Given the description of an element on the screen output the (x, y) to click on. 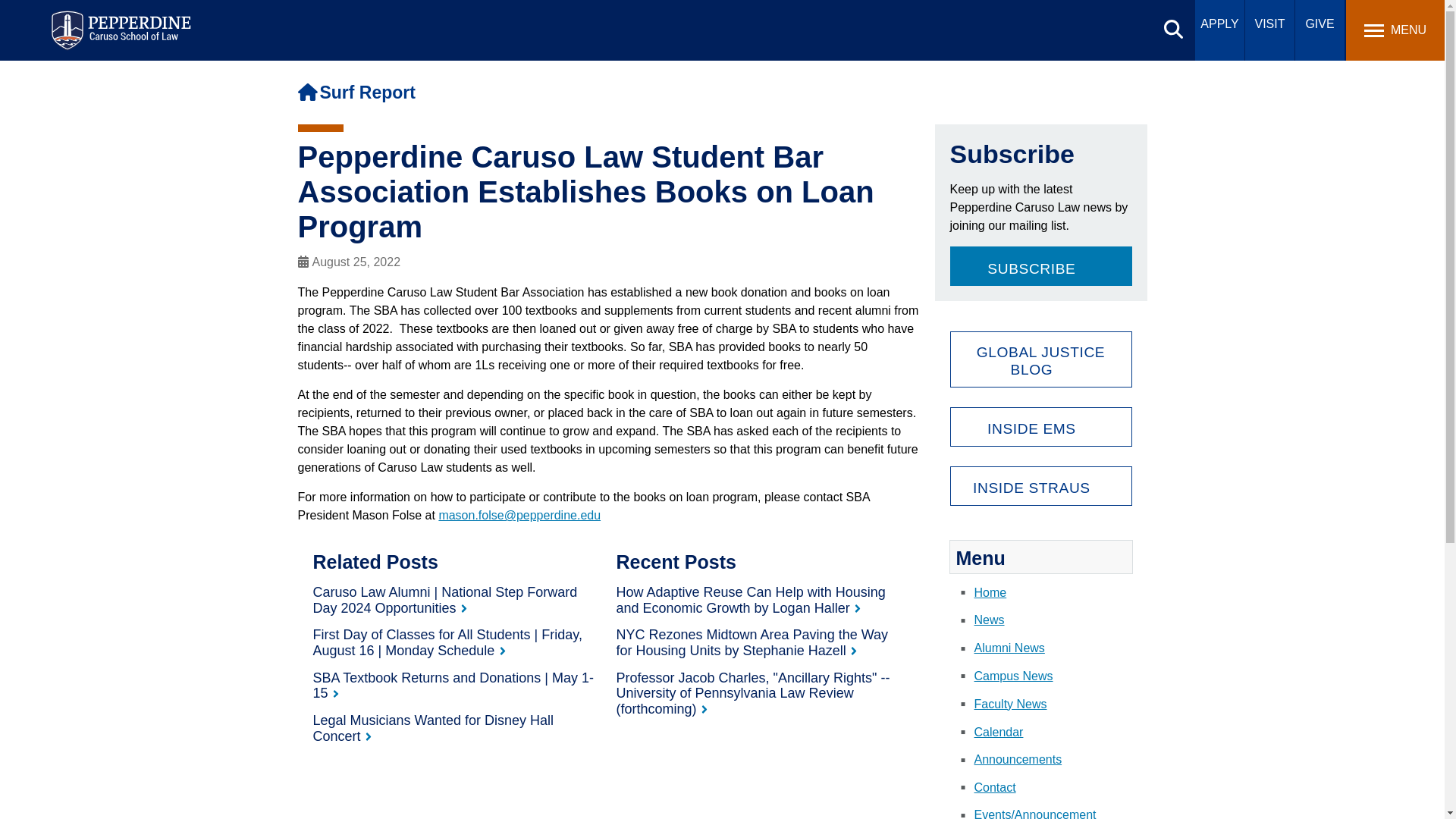
Email (518, 514)
home (307, 91)
Submit (457, 19)
open search (1173, 28)
